Given the description of an element on the screen output the (x, y) to click on. 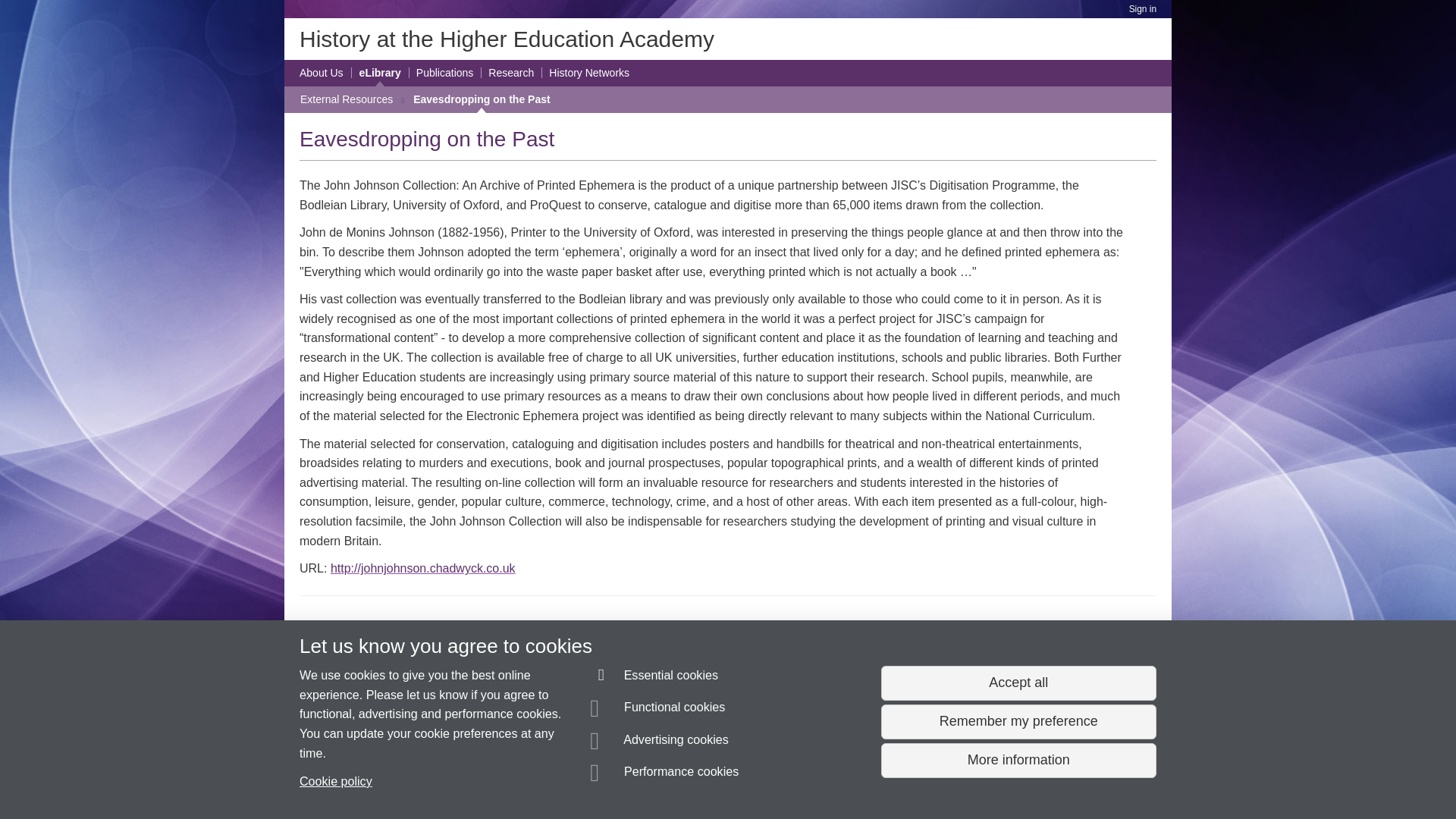
Accept all functional, advertising and performance cookies (1018, 683)
History at the Higher Education Academy (506, 38)
Research (510, 72)
Cookies (703, 780)
Publications (445, 72)
External Resources (346, 98)
Accessibility (654, 780)
